Given the description of an element on the screen output the (x, y) to click on. 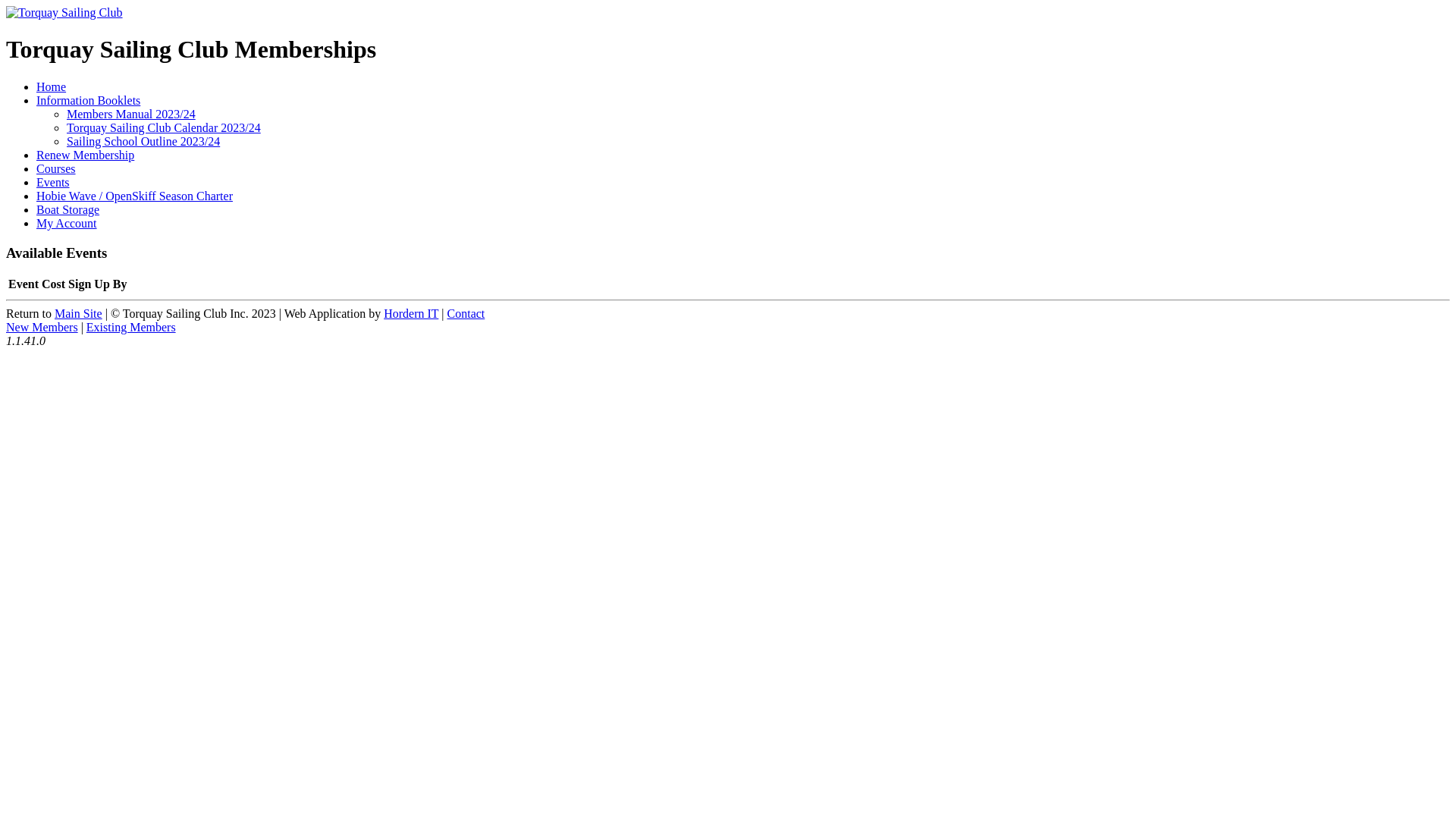
Events Element type: text (52, 181)
Torquay Sailing Club Calendar 2023/24 Element type: text (163, 127)
Hobie Wave / OpenSkiff Season Charter Element type: text (134, 195)
Renew Membership Element type: text (85, 154)
Information Booklets Element type: text (88, 100)
Home Element type: text (50, 86)
Sailing School Outline 2023/24 Element type: text (142, 140)
Existing Members Element type: text (130, 326)
Contact Element type: text (466, 313)
My Account Element type: text (66, 222)
Members Manual 2023/24 Element type: text (130, 113)
Main Site Element type: text (78, 313)
Hordern IT Element type: text (410, 313)
Boat Storage Element type: text (67, 209)
New Members Element type: text (42, 326)
Courses Element type: text (55, 168)
